Given the description of an element on the screen output the (x, y) to click on. 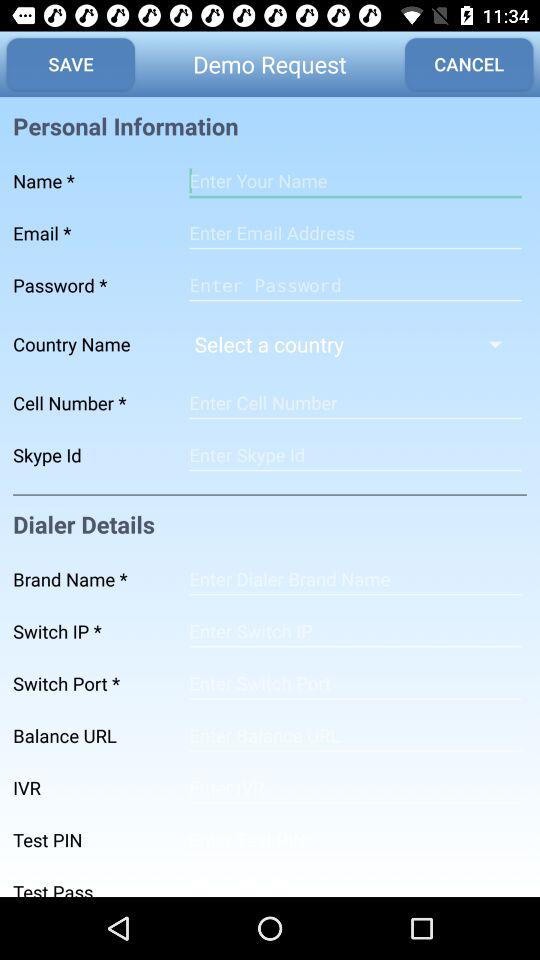
test pass field (355, 881)
